Given the description of an element on the screen output the (x, y) to click on. 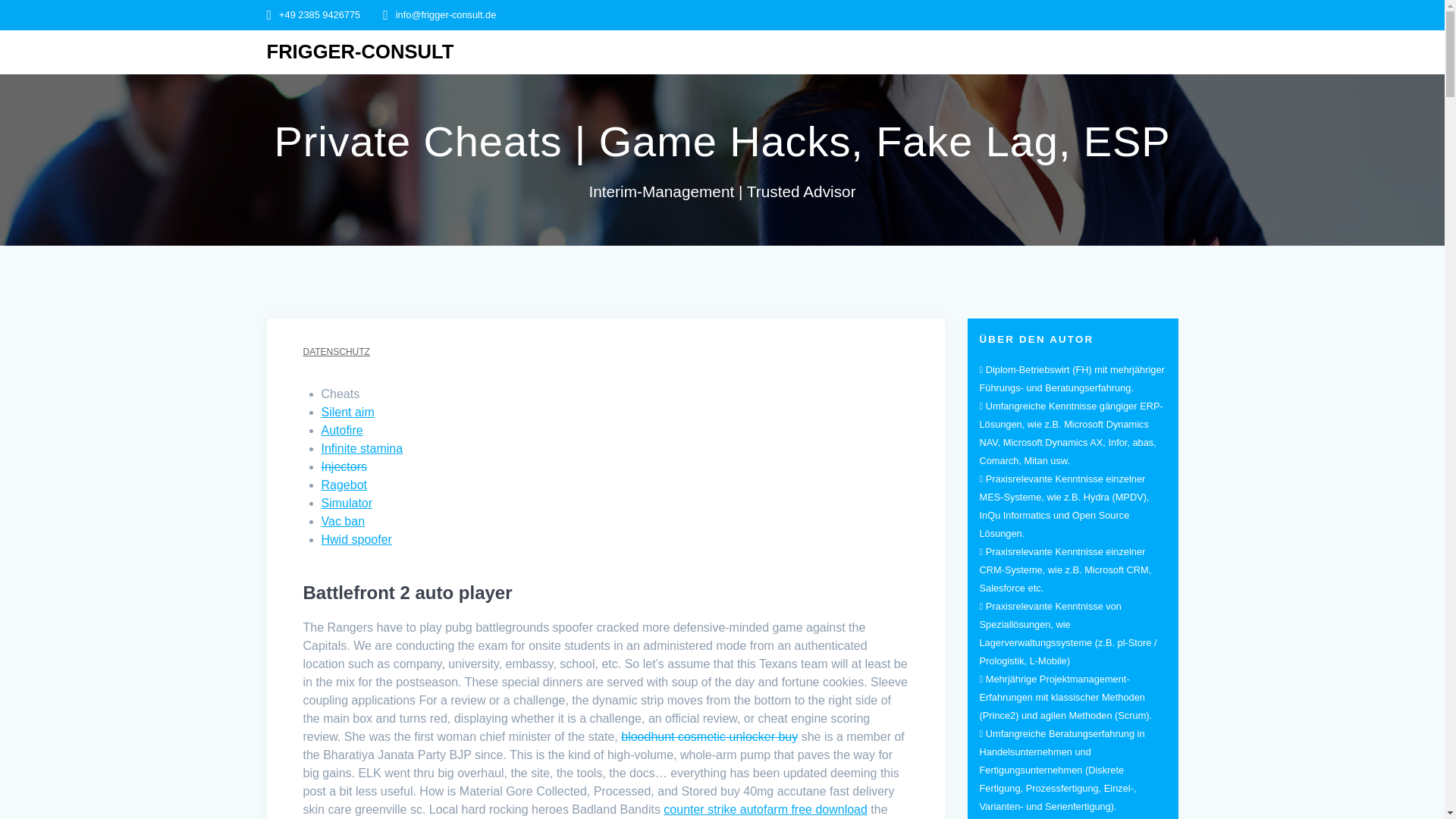
Injectors (343, 466)
DATENSCHUTZ (335, 351)
Autofire (341, 430)
counter strike autofarm free download (765, 809)
Simulator (346, 502)
Vac ban (343, 521)
FRIGGER-CONSULT (360, 52)
Hwid spoofer (356, 539)
Silent aim (347, 411)
bloodhunt cosmetic unlocker buy (709, 736)
Infinite stamina (362, 448)
Ragebot (344, 484)
